Given the description of an element on the screen output the (x, y) to click on. 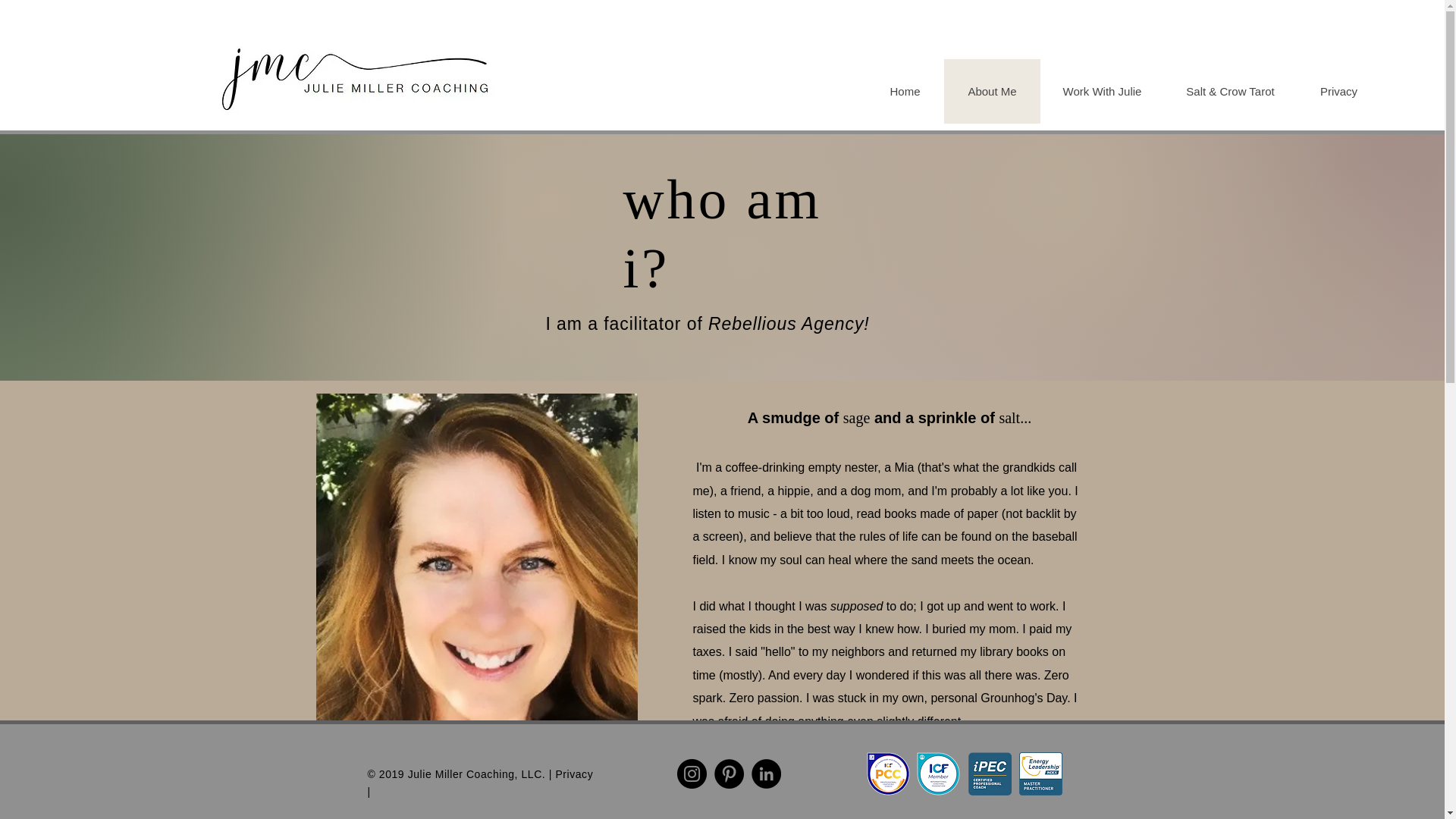
About Me (991, 90)
Privacy (1338, 90)
Home (904, 90)
Work With Julie (1102, 90)
